Given the description of an element on the screen output the (x, y) to click on. 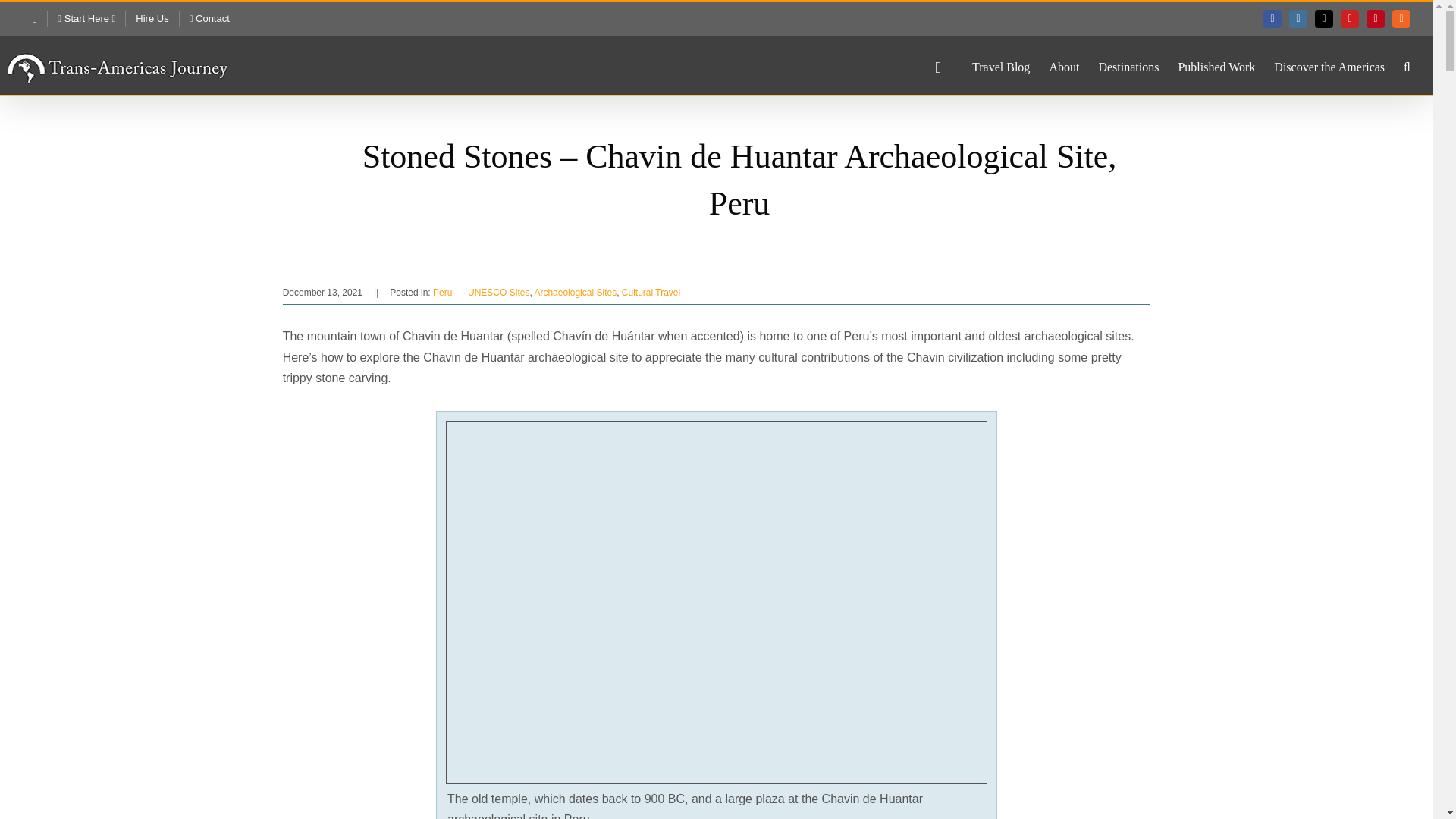
Instagram (1297, 18)
Travel Blog (1000, 65)
Start Here (86, 18)
Instagram (1297, 18)
YouTube (1349, 18)
Destinations (1127, 65)
Rss (1400, 18)
Hire Us (151, 18)
Published Work (1216, 65)
Facebook (1272, 18)
YouTube (1349, 18)
Pinterest (1375, 18)
Rss (1400, 18)
X (1323, 18)
Pinterest (1375, 18)
